Given the description of an element on the screen output the (x, y) to click on. 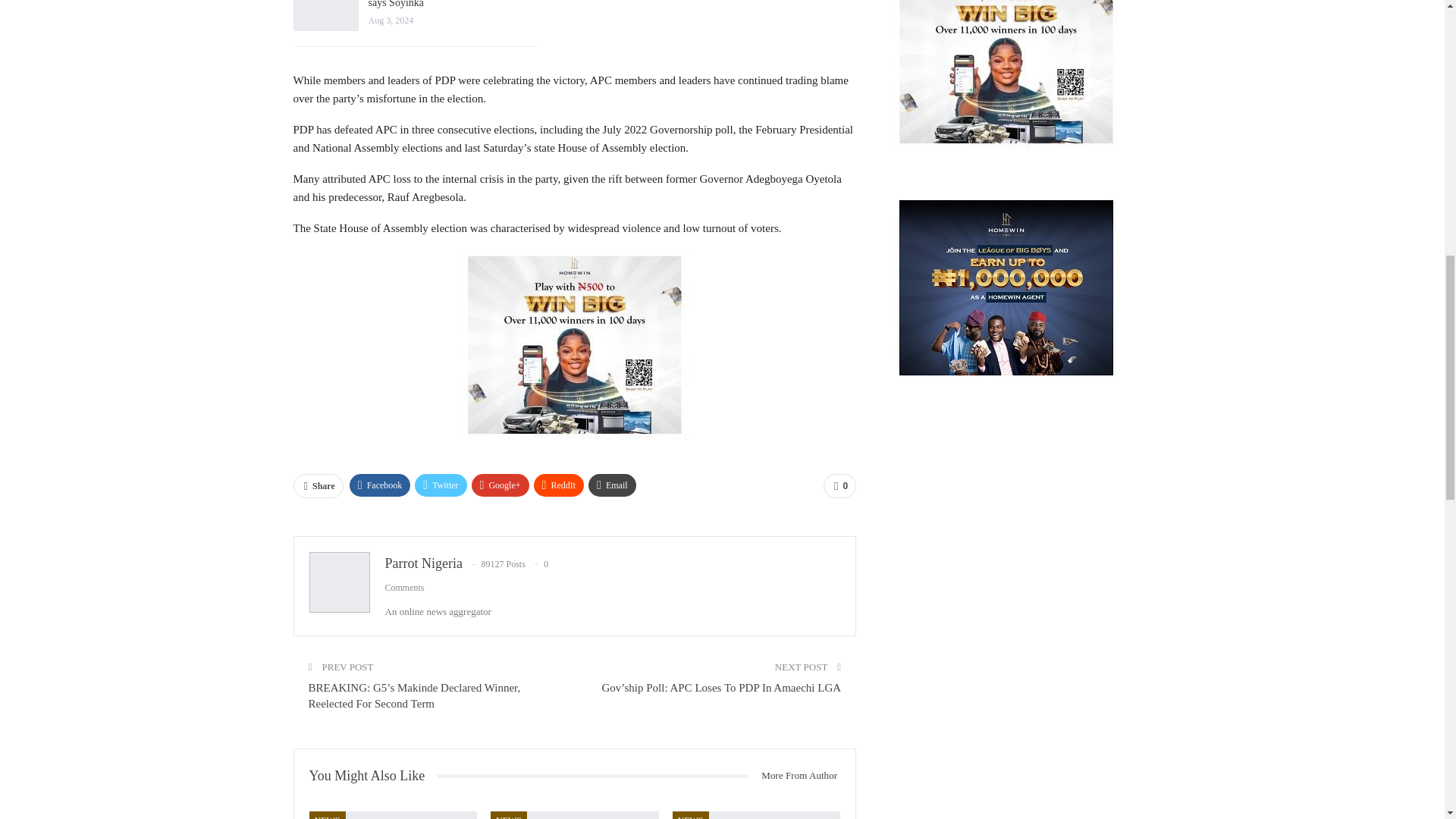
Pyrates Confraternity not secret cult, says Soyinka (446, 4)
Pyrates Confraternity not secret cult, says Soyinka (325, 15)
